Given the description of an element on the screen output the (x, y) to click on. 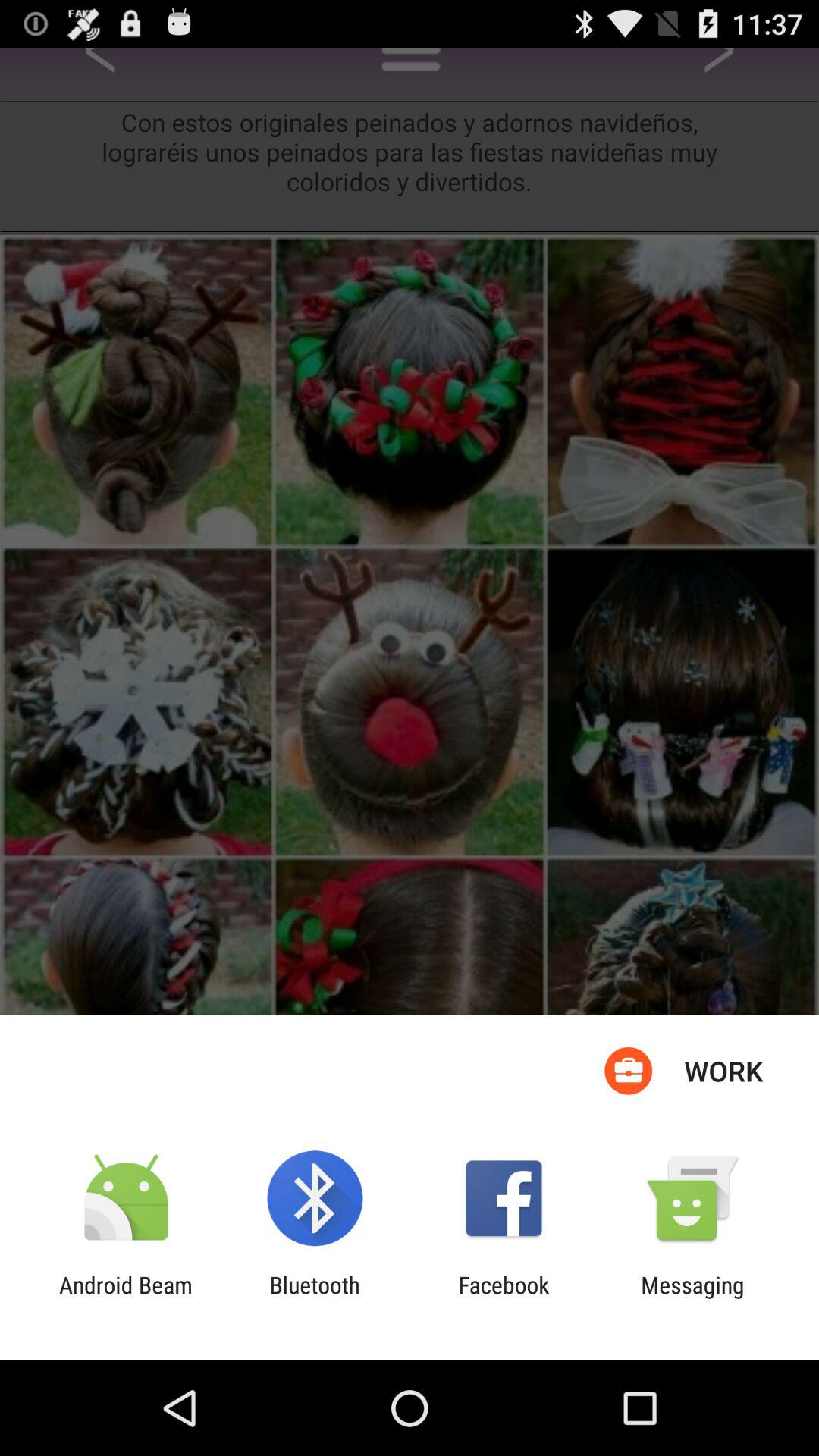
tap facebook (503, 1298)
